Given the description of an element on the screen output the (x, y) to click on. 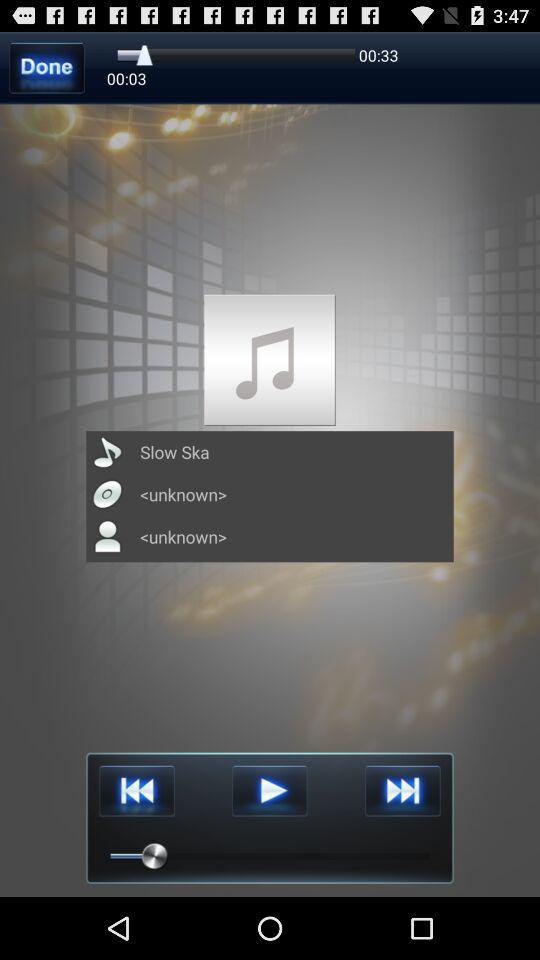
reverse (136, 790)
